Given the description of an element on the screen output the (x, y) to click on. 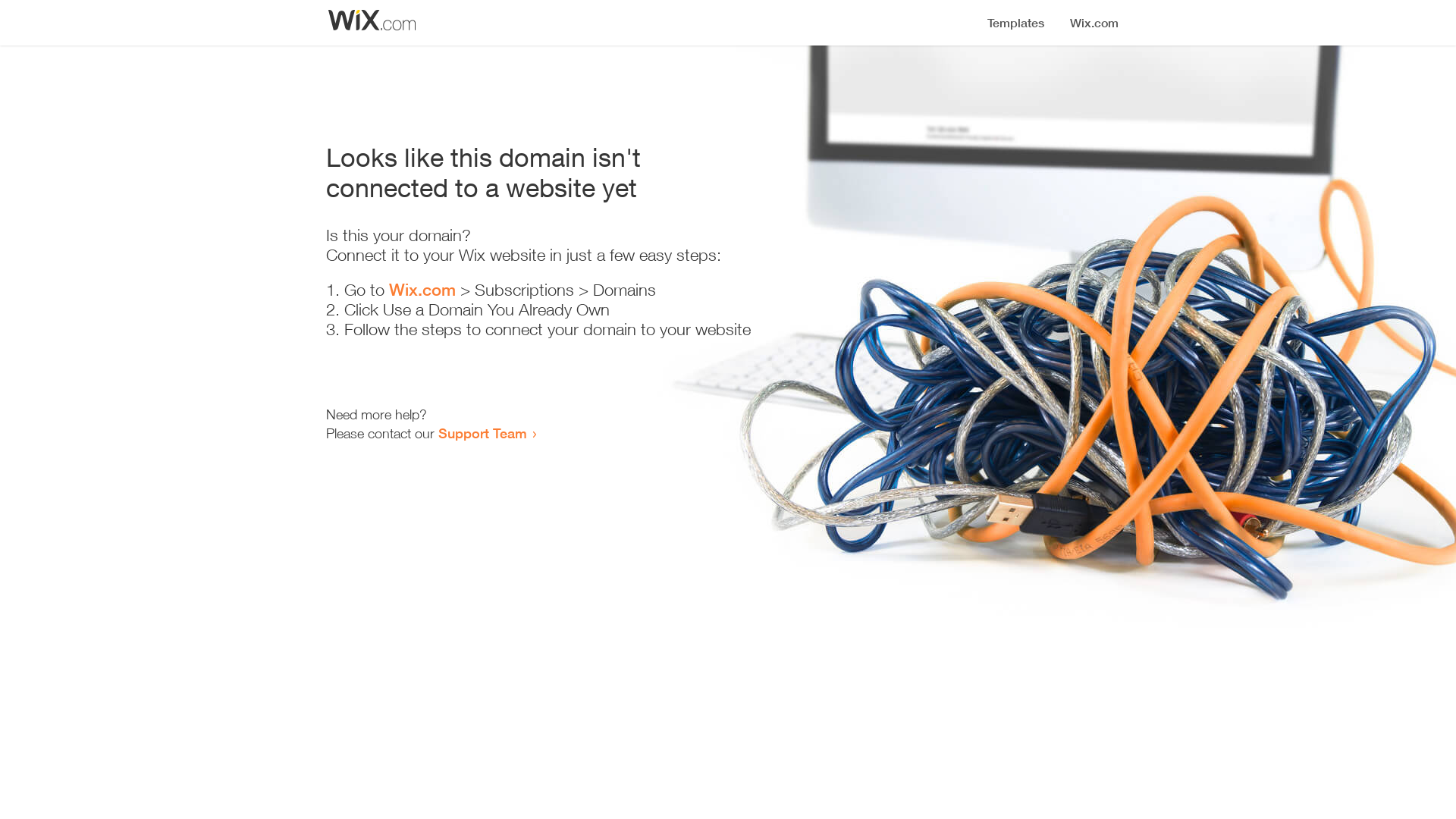
Wix.com Element type: text (422, 289)
Support Team Element type: text (482, 432)
